Given the description of an element on the screen output the (x, y) to click on. 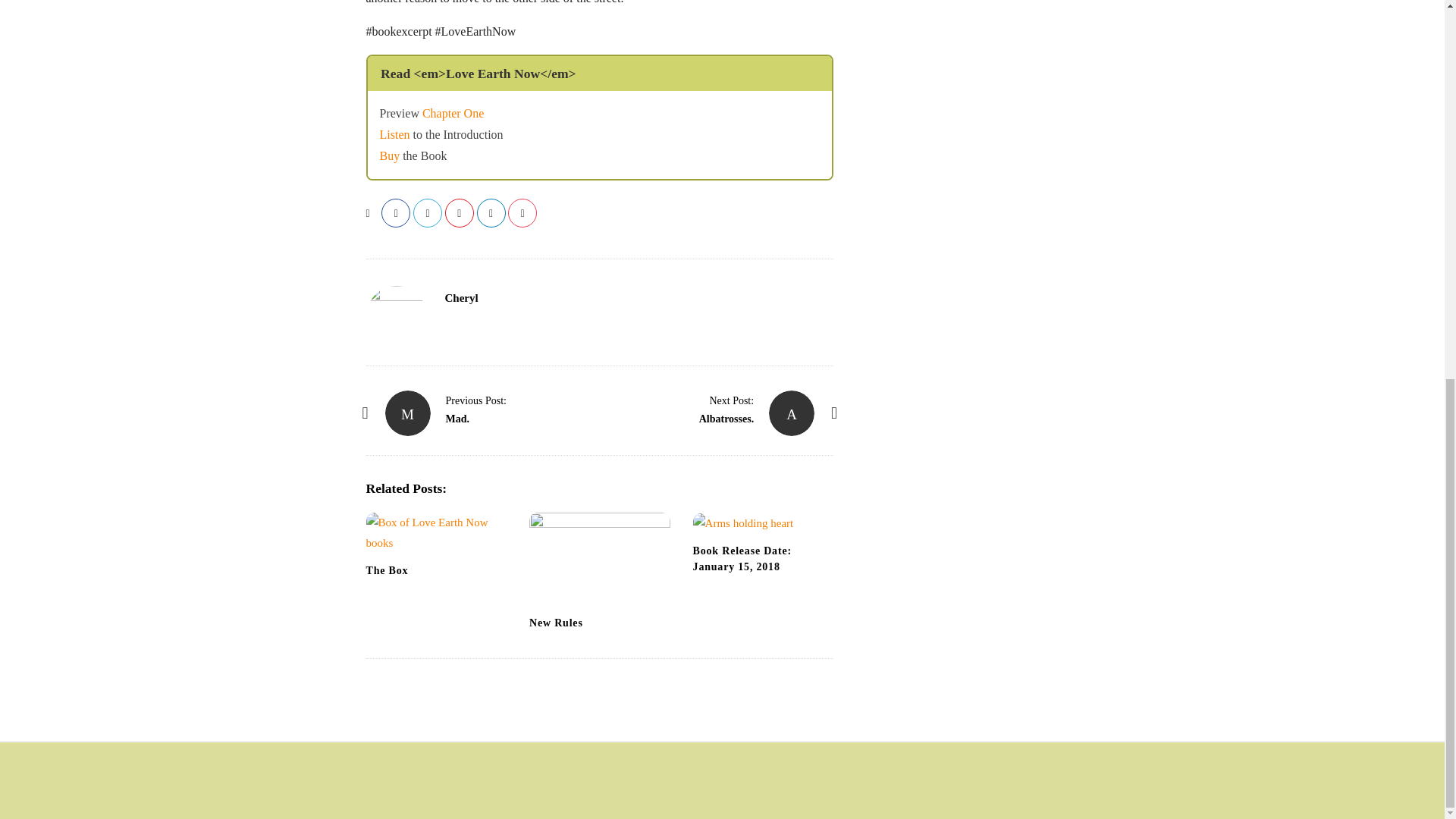
Albatrosses. (731, 399)
New Rules (556, 622)
Book Release Date: January 15, 2018 (742, 558)
Mad. (407, 412)
New Rules (599, 559)
The Box (386, 570)
Next Post: (731, 399)
Buy (388, 155)
Cheryl (460, 297)
Mad. (475, 399)
Book Release Date: January 15, 2018 (763, 522)
New Rules (556, 622)
Chapter One (452, 113)
Albatrosses. (726, 419)
The Box (435, 532)
